Given the description of an element on the screen output the (x, y) to click on. 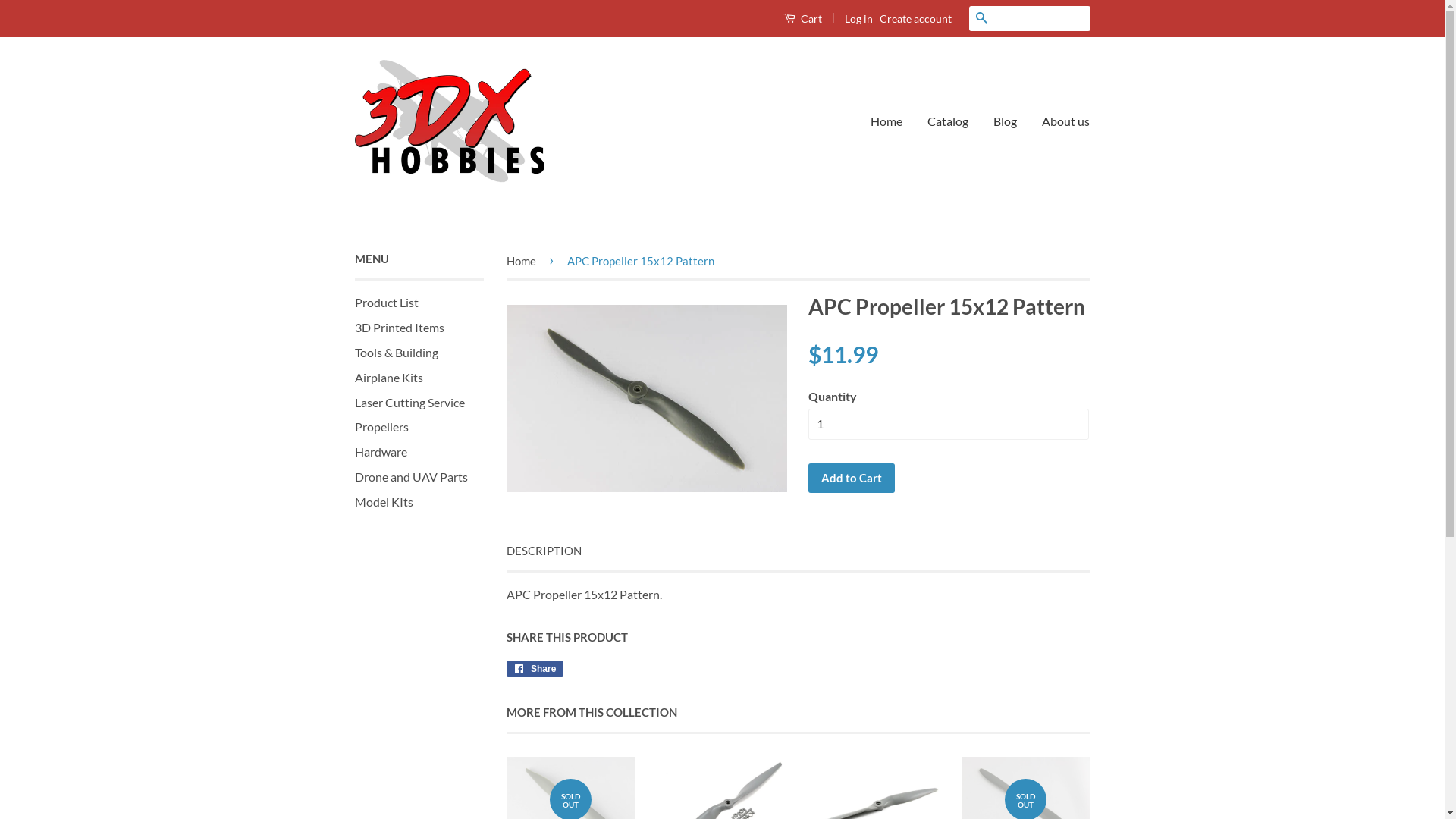
Propellers Element type: text (381, 426)
Home Element type: text (523, 260)
Drone and UAV Parts Element type: text (410, 476)
Hardware Element type: text (380, 451)
3D Printed Items Element type: text (399, 327)
Model KIts Element type: text (383, 501)
DESCRIPTION Element type: text (543, 550)
Laser Cutting Service Element type: text (409, 402)
Cart Element type: text (802, 17)
Product List Element type: text (386, 301)
Blog Element type: text (1005, 121)
Log in Element type: text (858, 18)
Add to Cart Element type: text (851, 477)
Tools & Building Element type: text (396, 352)
About us Element type: text (1059, 121)
Search Element type: text (981, 18)
Home Element type: text (891, 121)
Airplane Kits Element type: text (388, 377)
Create account Element type: text (915, 18)
Share Element type: text (535, 668)
Catalog Element type: text (947, 121)
